Given the description of an element on the screen output the (x, y) to click on. 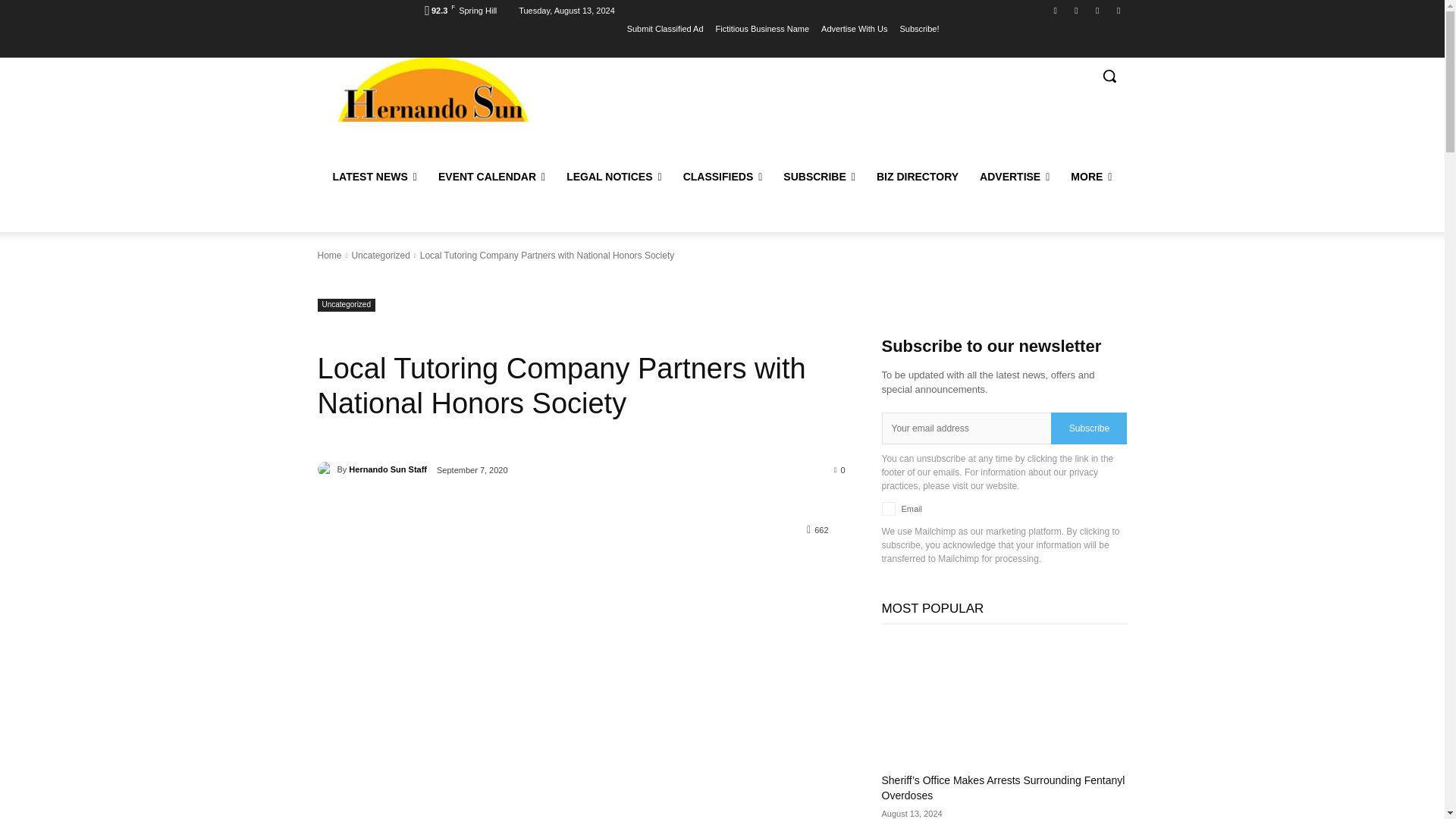
Hernando Sun Logo (432, 89)
View all posts in Uncategorized (379, 255)
Facebook (1055, 9)
Twitter (1075, 9)
Instagram (1117, 9)
Youtube (1097, 9)
Hernando Sun Staff (326, 468)
